Given the description of an element on the screen output the (x, y) to click on. 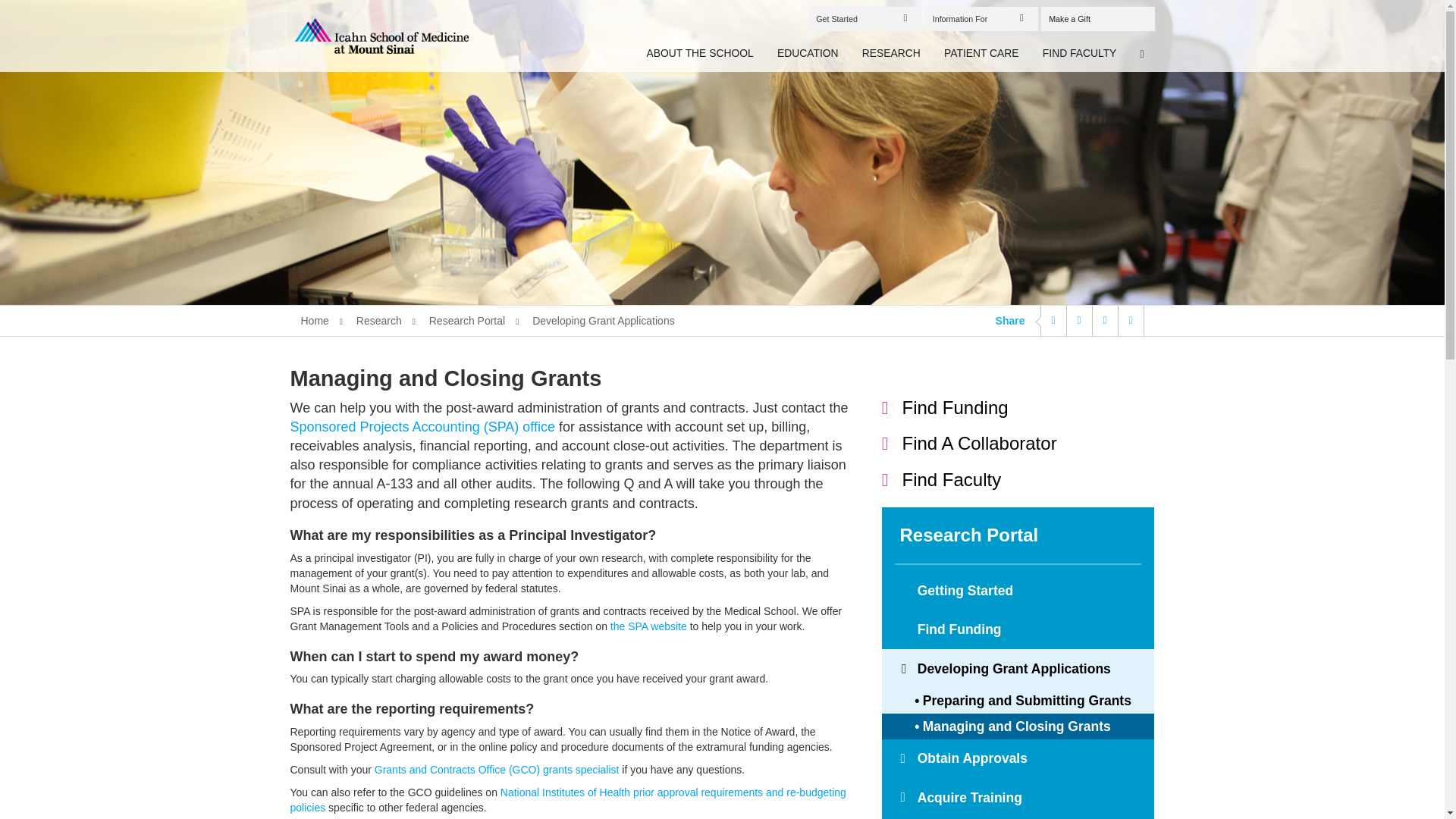
Get Started (864, 18)
ABOUT THE SCHOOL (700, 54)
Make a Gift (1097, 18)
Information For (981, 18)
